Given the description of an element on the screen output the (x, y) to click on. 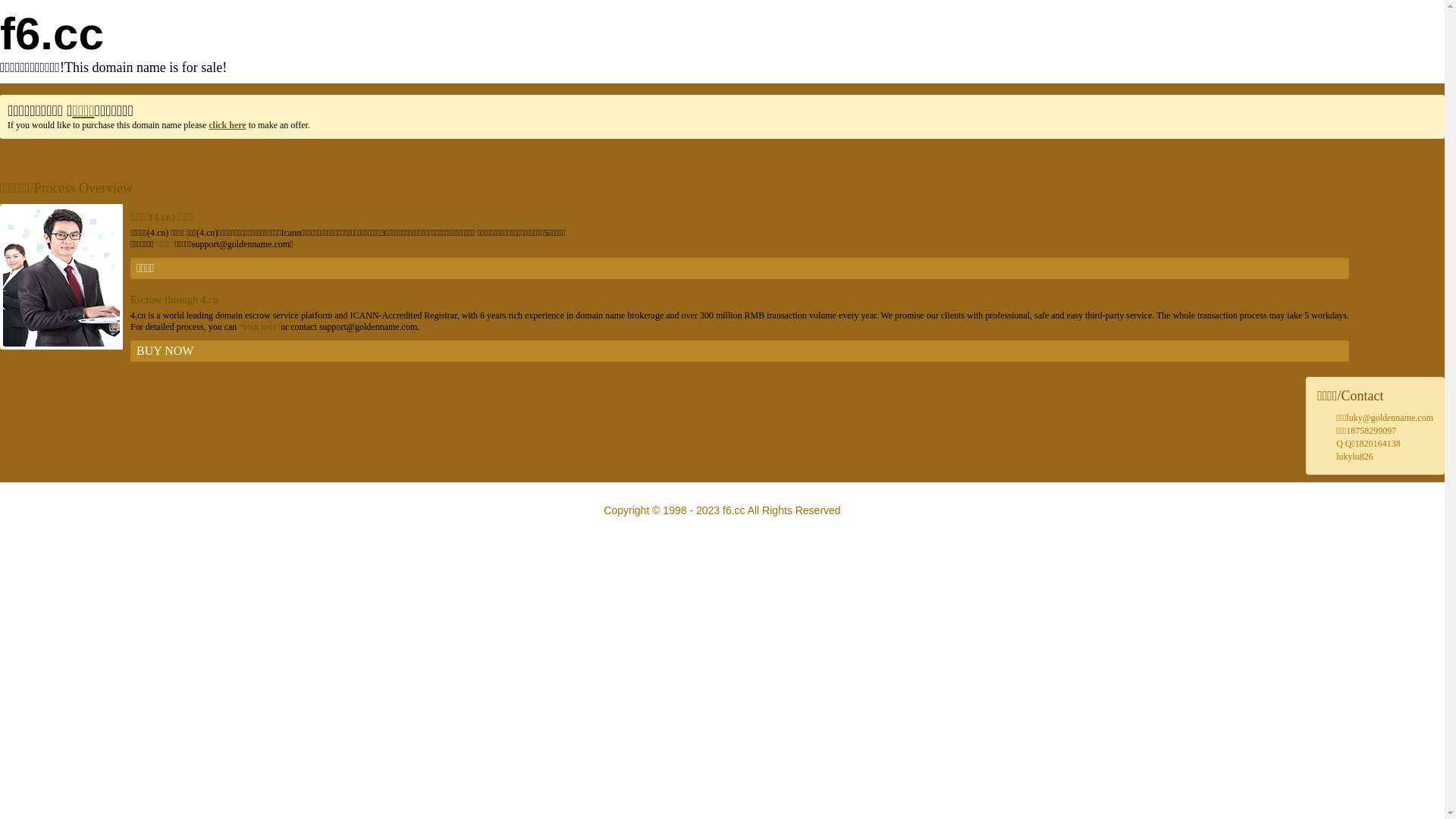
BUY NOW Element type: text (739, 350)
click here Element type: text (226, 124)
